Given the description of an element on the screen output the (x, y) to click on. 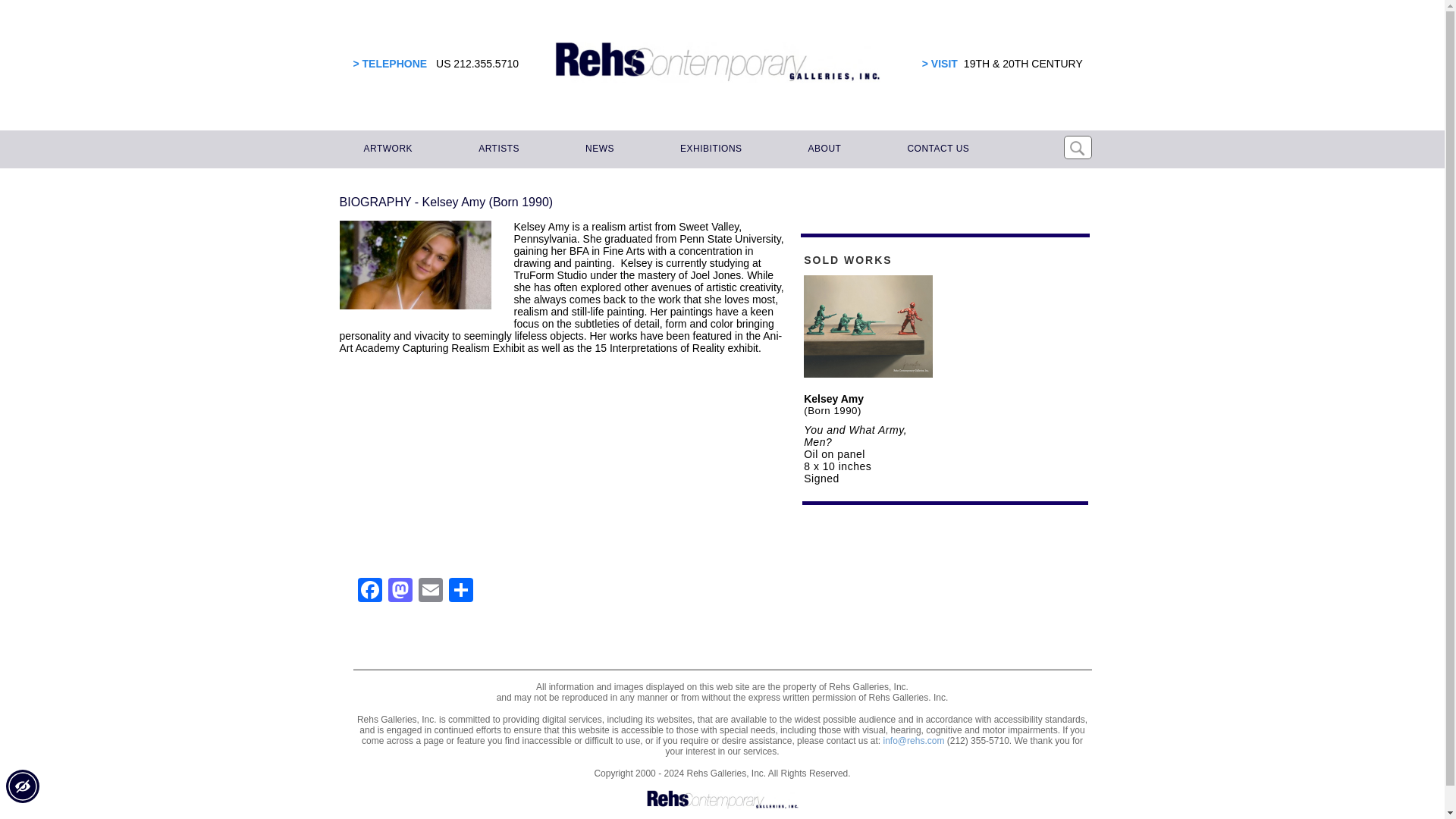
NEWS (597, 149)
You and What Army, Men? (855, 435)
Logo (717, 62)
ABOUT (822, 149)
Accessibility Menu (22, 786)
CONTACT US (935, 149)
Mastodon (399, 592)
Facebook (370, 592)
Logo (721, 799)
Email (429, 592)
